Given the description of an element on the screen output the (x, y) to click on. 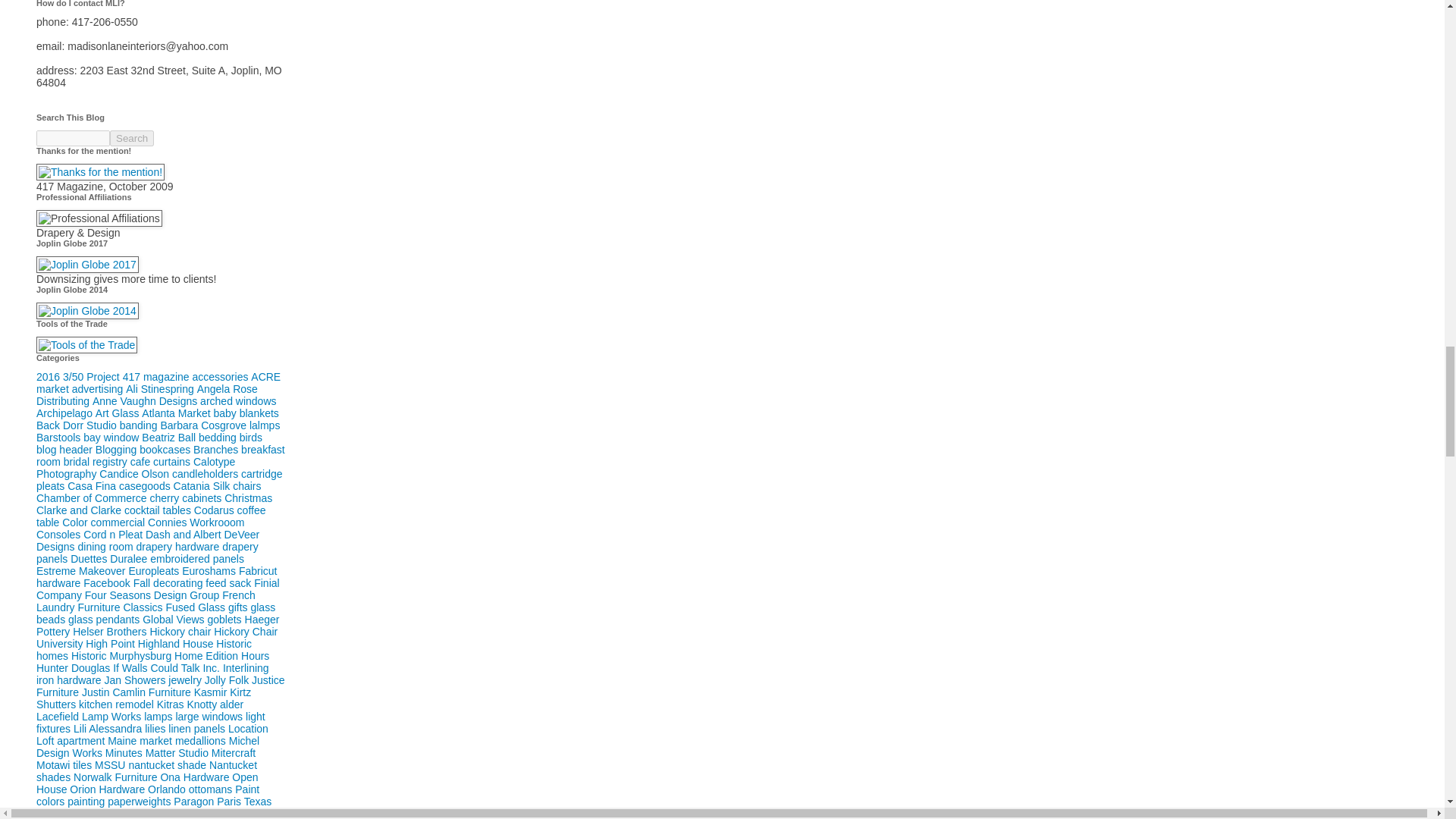
Search (132, 138)
Search (132, 138)
Search (132, 138)
